Given the description of an element on the screen output the (x, y) to click on. 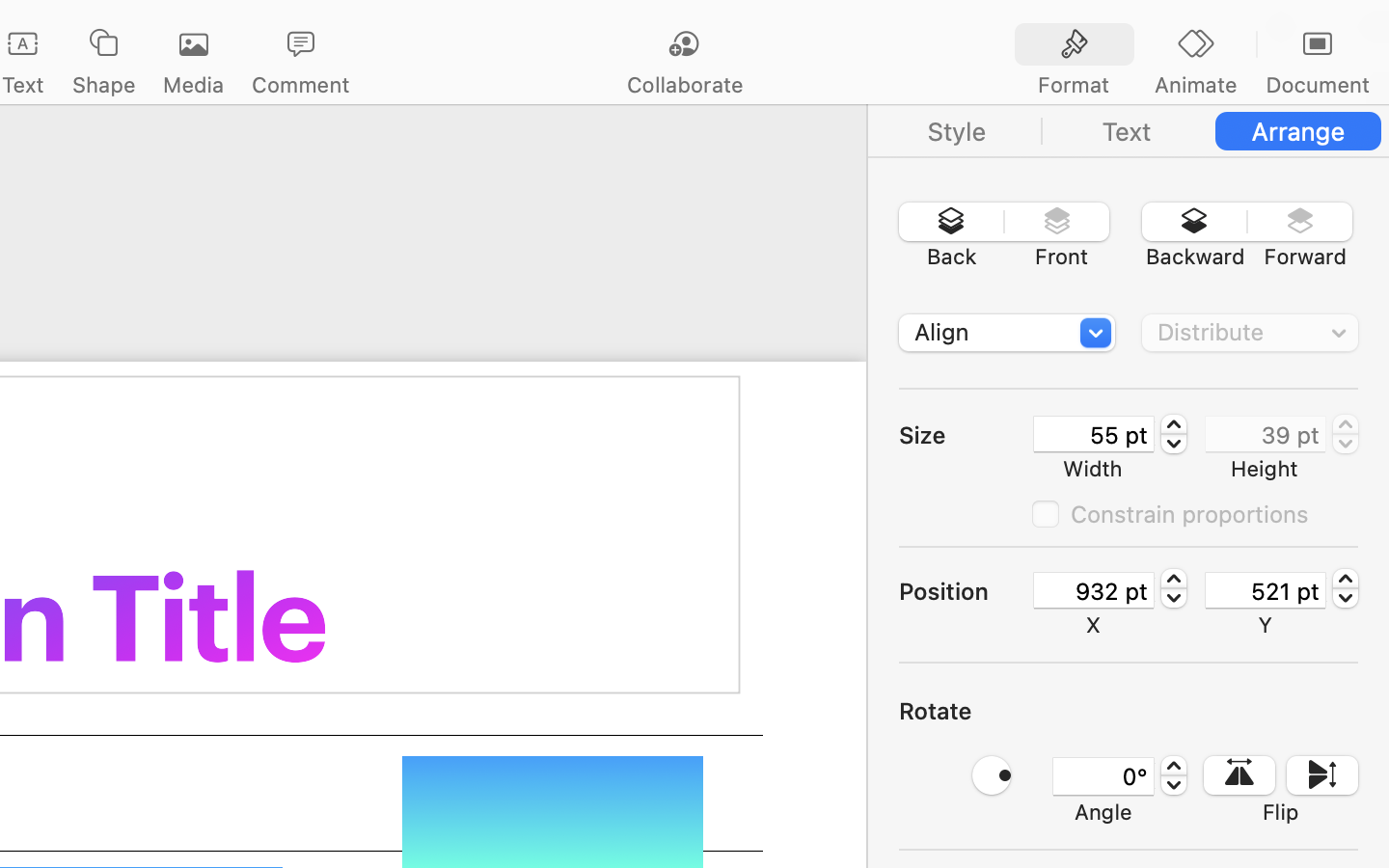
Format Element type: AXStaticText (1073, 84)
Untitled Element type: AXStaticText (81, 24)
Angle Element type: AXStaticText (1103, 811)
932.436 Element type: AXIncrementor (1173, 588)
